Given the description of an element on the screen output the (x, y) to click on. 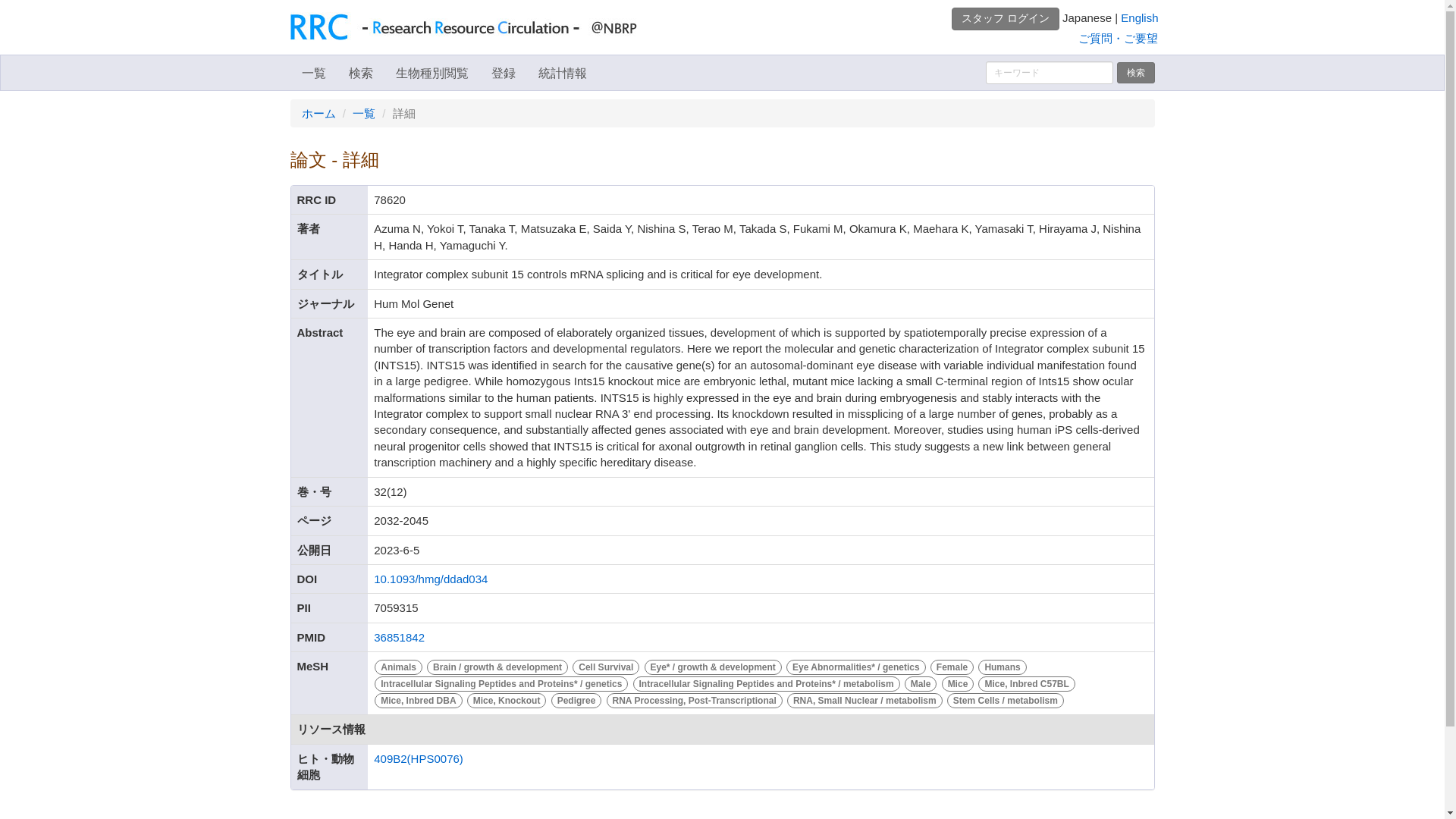
Cell Survival (607, 666)
Mice, Inbred DBA (419, 698)
Female (954, 666)
Male (922, 682)
RNA Processing, Post-Transcriptional (695, 698)
36851842 (399, 636)
English (1139, 17)
Pedigree (577, 698)
Humans (1001, 666)
Mice, Knockout (507, 698)
Animals (400, 666)
Mice, Inbred C57BL (1025, 682)
Mice (959, 682)
